Given the description of an element on the screen output the (x, y) to click on. 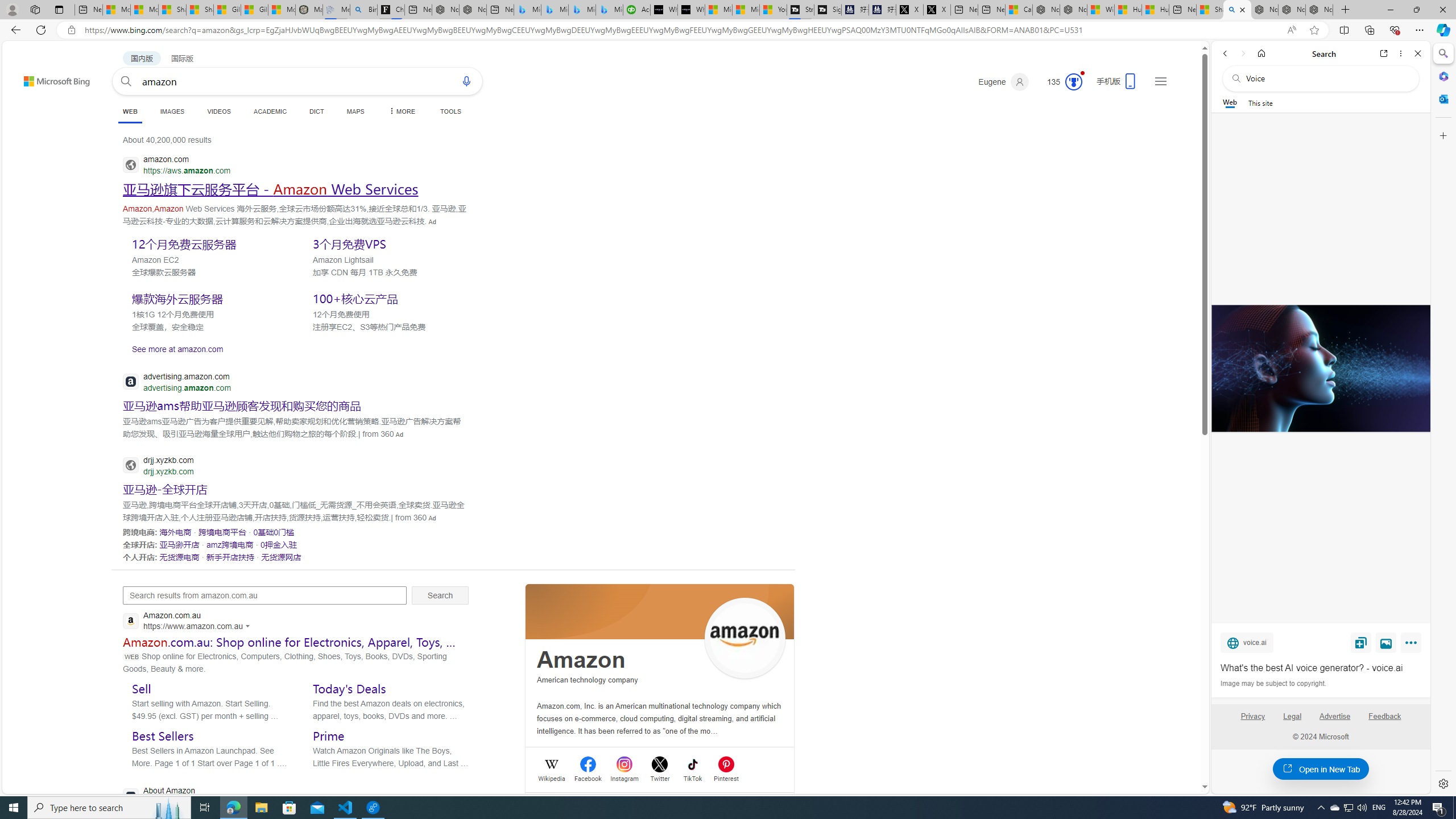
Facebook (587, 777)
ACADEMIC (269, 111)
DICT (316, 111)
Legal (1292, 720)
TOOLS (450, 111)
WEB (129, 111)
Legal (1291, 715)
Bing Real Estate - Home sales and rental listings (363, 9)
Search (1442, 53)
Outlook (1442, 98)
Shanghai, China weather forecast | Microsoft Weather (200, 9)
MAPS (355, 111)
What's the best AI voice generator? - voice.ai (691, 9)
